Given the description of an element on the screen output the (x, y) to click on. 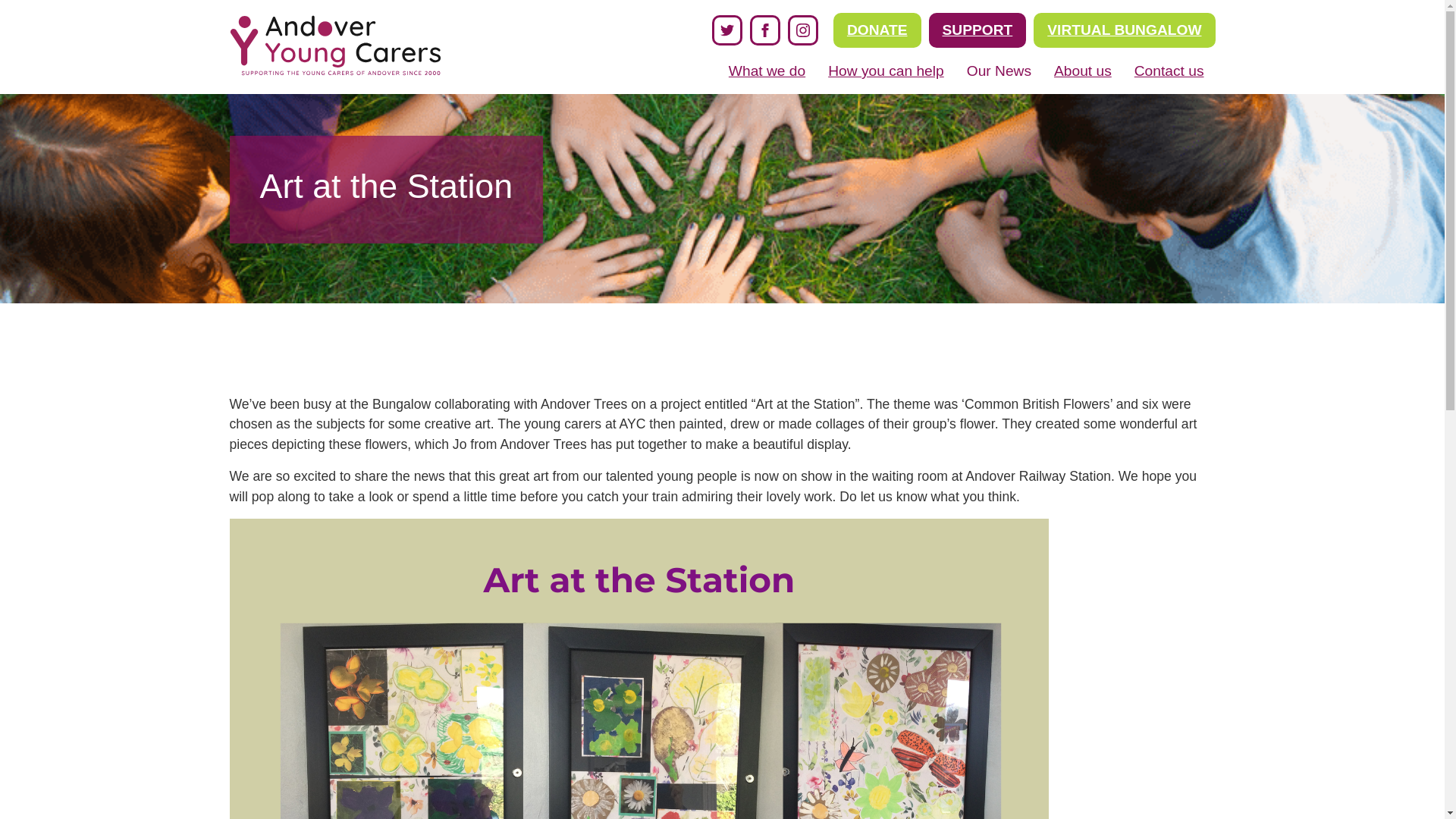
Contact us (1169, 77)
What we do (767, 77)
DONATE (877, 30)
How you can help (885, 77)
Our News (998, 77)
About us (1083, 77)
SUPPORT (976, 30)
VIRTUAL BUNGALOW (1123, 30)
